Given the description of an element on the screen output the (x, y) to click on. 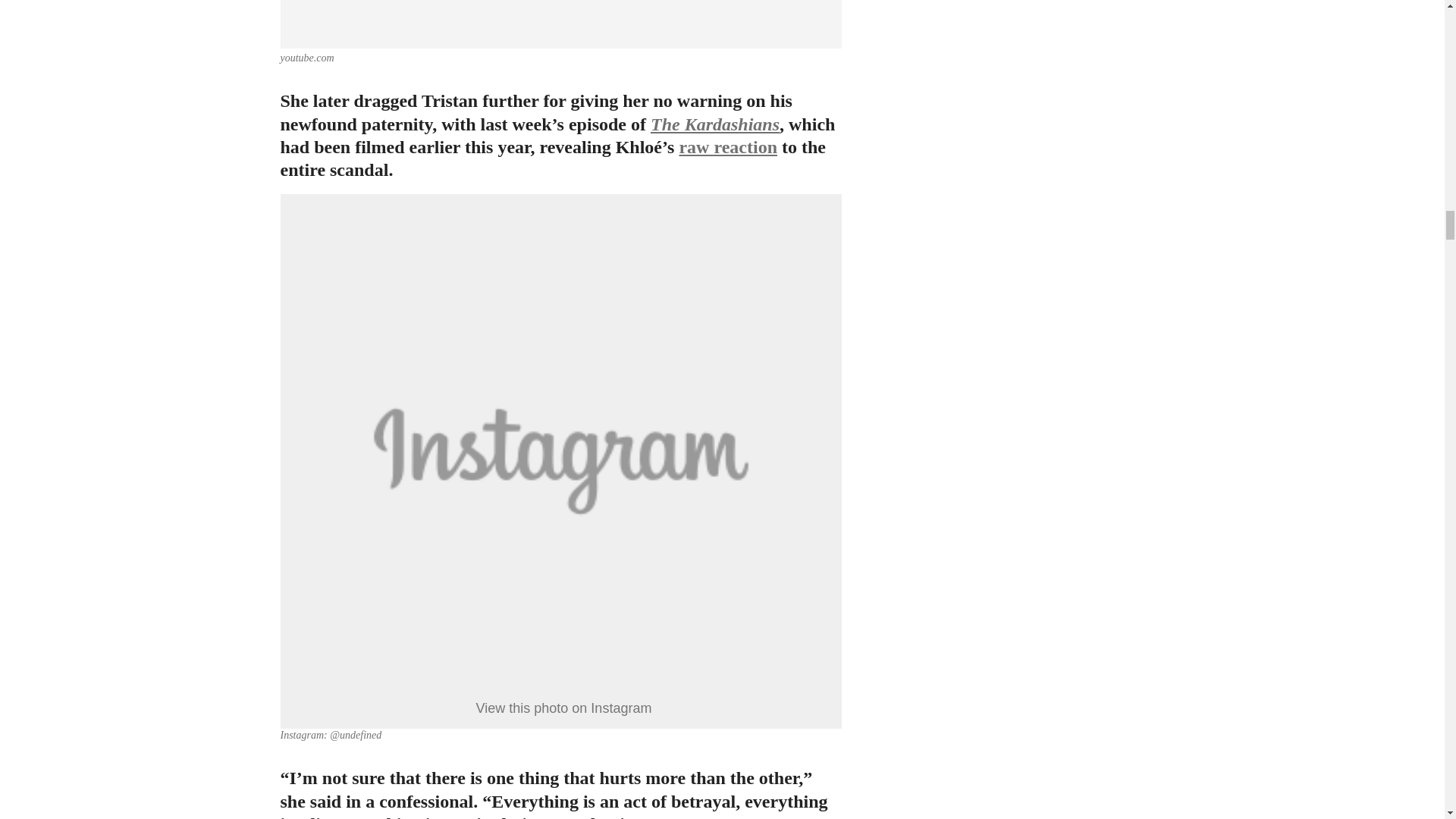
youtube.com (307, 57)
The Kardashians (714, 124)
raw reaction (727, 147)
